Given the description of an element on the screen output the (x, y) to click on. 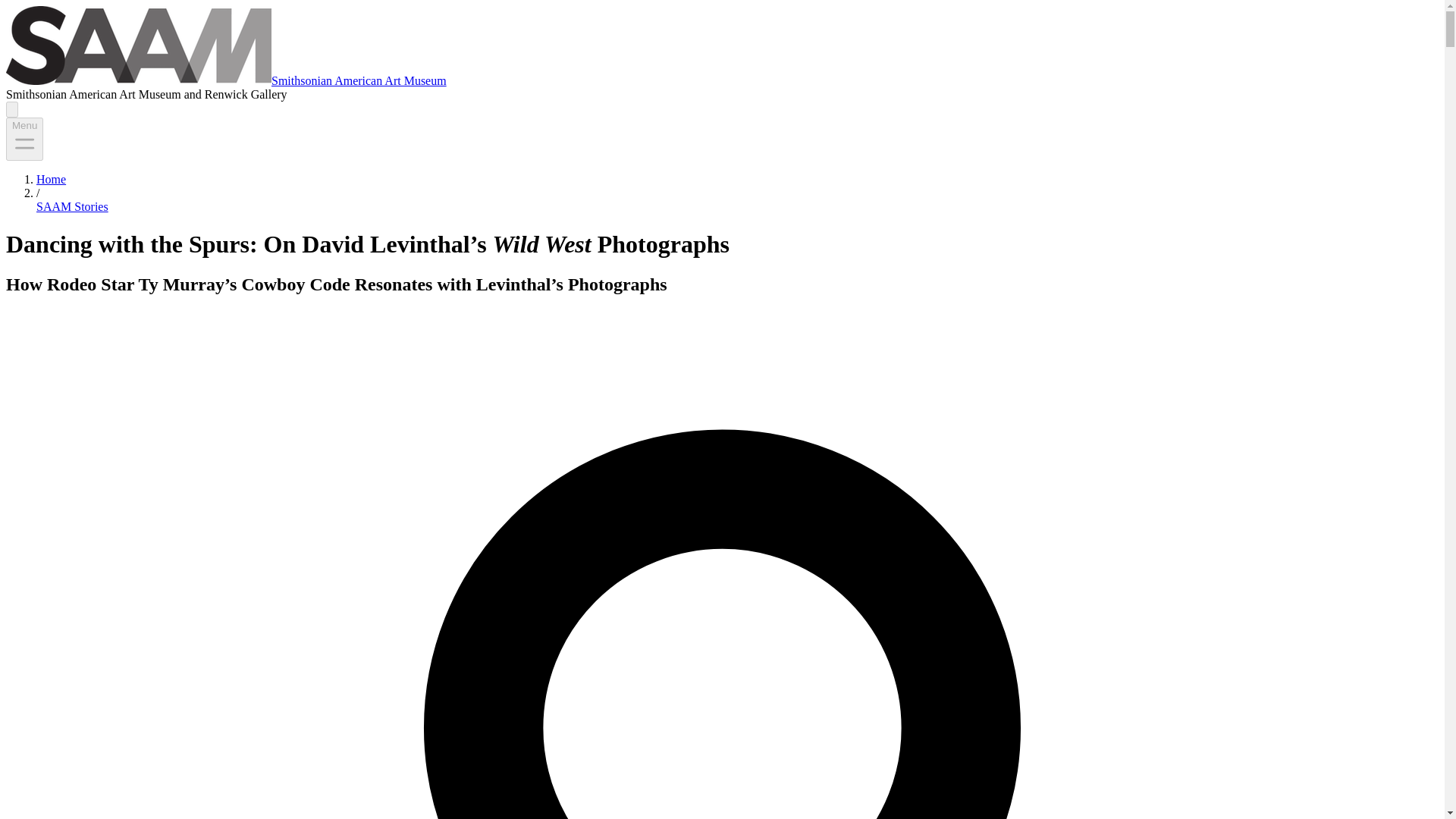
Smithsonian American Art Museum (358, 80)
